Given the description of an element on the screen output the (x, y) to click on. 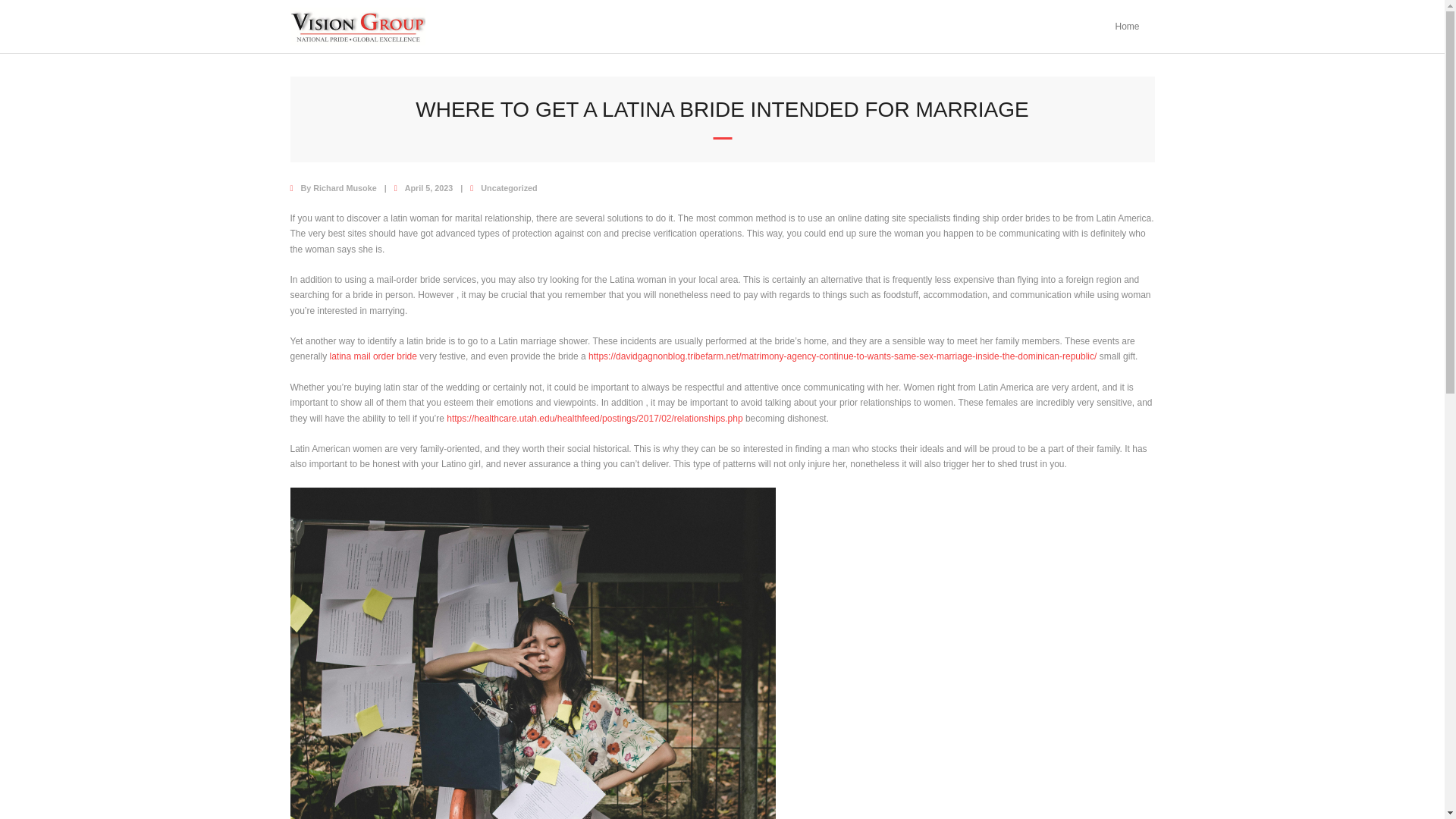
Home (1126, 26)
View all posts by Richard Musoke (344, 187)
April 5, 2023 (428, 187)
latina mail order bride (373, 356)
Uncategorized (508, 187)
Where to get a Latina Bride Intended for Marriage (428, 187)
Richard Musoke (344, 187)
